Given the description of an element on the screen output the (x, y) to click on. 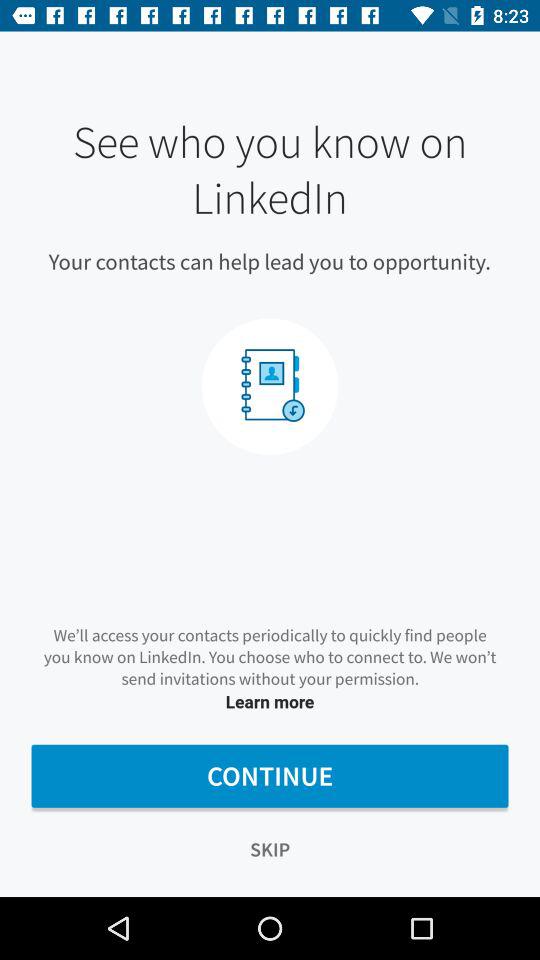
launch the continue item (269, 775)
